Given the description of an element on the screen output the (x, y) to click on. 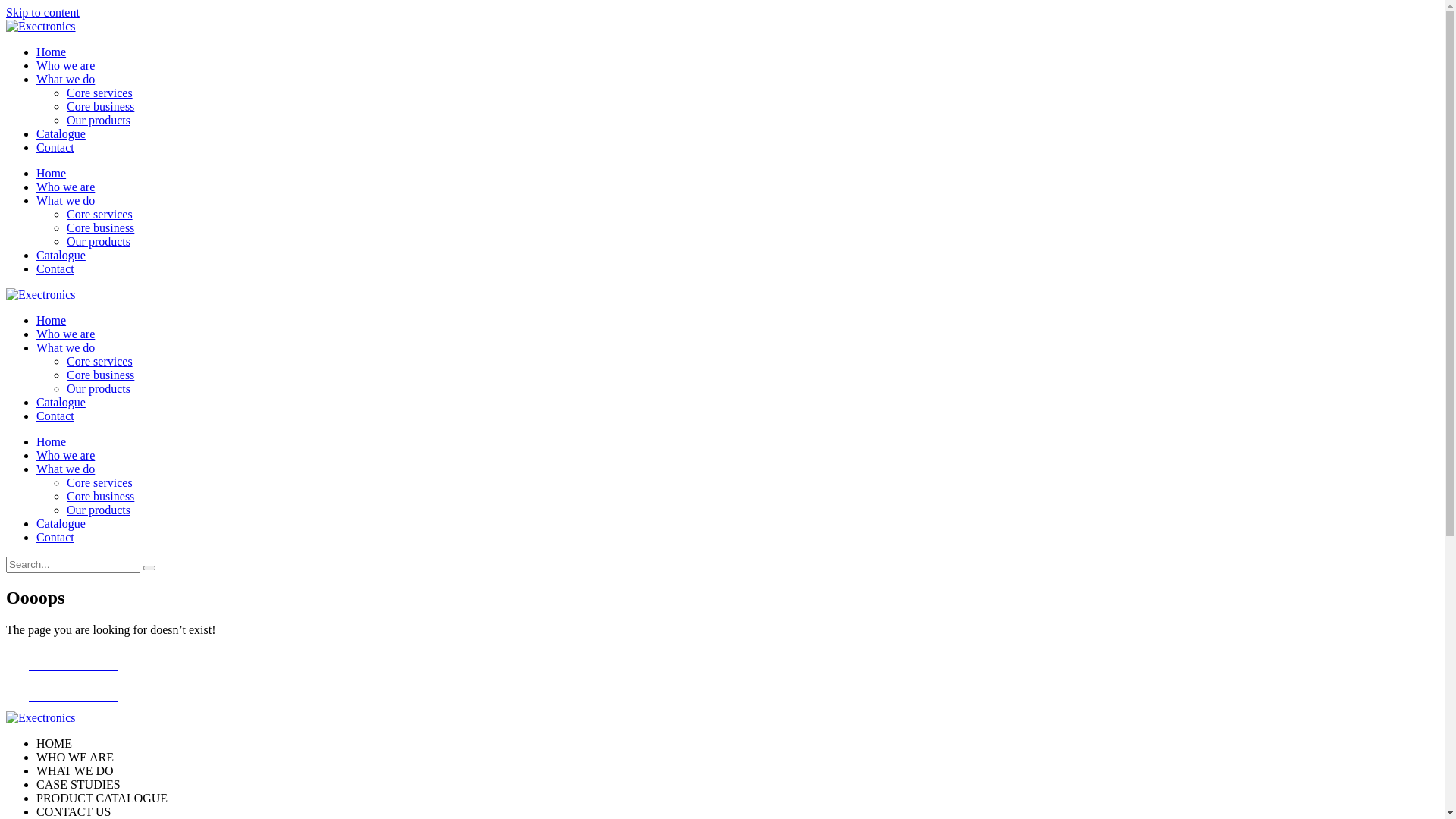
Home Element type: text (50, 51)
Catalogue Element type: text (60, 133)
Contact Element type: text (55, 536)
Catalogue Element type: text (60, 401)
Core business Element type: text (100, 374)
Who we are Element type: text (65, 186)
Contact Element type: text (55, 268)
HOMEPAGE
HOMEPAGE Element type: text (722, 680)
Home Element type: text (50, 319)
Core services Element type: text (99, 482)
Who we are Element type: text (65, 333)
Our products Element type: text (98, 241)
Who we are Element type: text (65, 454)
Our products Element type: text (98, 119)
What we do Element type: text (65, 78)
Skip to content Element type: text (42, 12)
Core business Element type: text (100, 227)
Core services Element type: text (99, 213)
What we do Element type: text (65, 468)
Catalogue Element type: text (60, 254)
Contact Element type: text (55, 147)
What we do Element type: text (65, 347)
Who we are Element type: text (65, 65)
Our products Element type: text (98, 388)
Core business Element type: text (100, 495)
Contact Element type: text (55, 415)
Core business Element type: text (100, 106)
Our products Element type: text (98, 509)
What we do Element type: text (65, 200)
Core services Element type: text (99, 92)
Catalogue Element type: text (60, 523)
Core services Element type: text (99, 360)
Home Element type: text (50, 441)
Home Element type: text (50, 172)
